Given the description of an element on the screen output the (x, y) to click on. 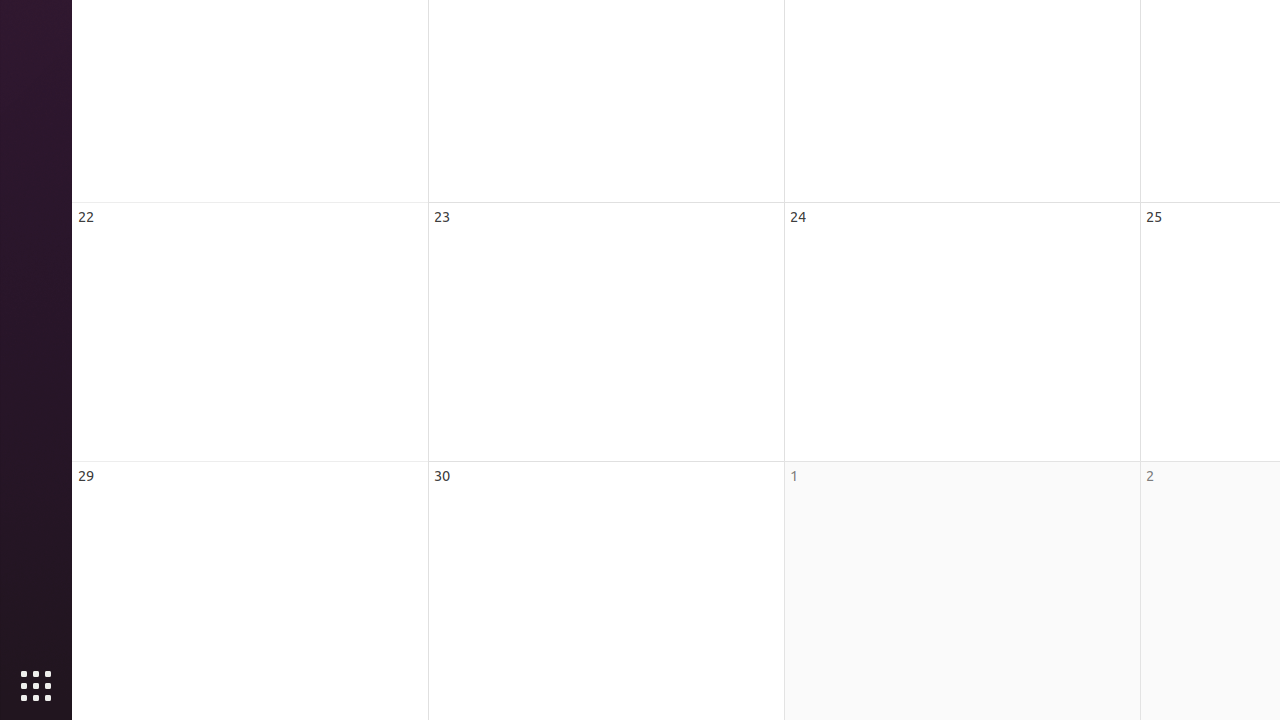
23 Element type: label (442, 216)
22 Element type: label (86, 216)
25 Element type: label (1154, 216)
30 Element type: label (442, 475)
